Given the description of an element on the screen output the (x, y) to click on. 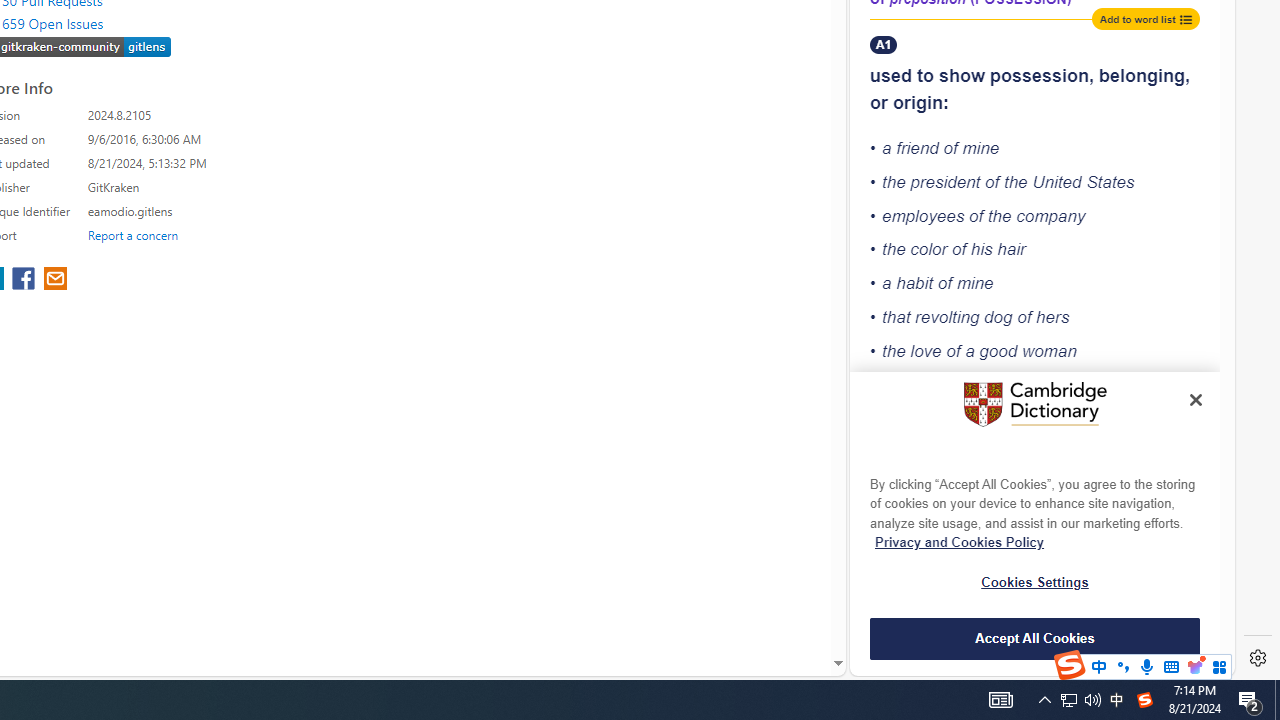
dog (998, 316)
garlic (927, 663)
Actions for this site (1149, 184)
habit (915, 283)
plays (1004, 385)
origin (918, 102)
Report a concern (133, 234)
plant (1108, 606)
elected (995, 547)
seats (978, 490)
president (945, 182)
senior (930, 513)
